Given the description of an element on the screen output the (x, y) to click on. 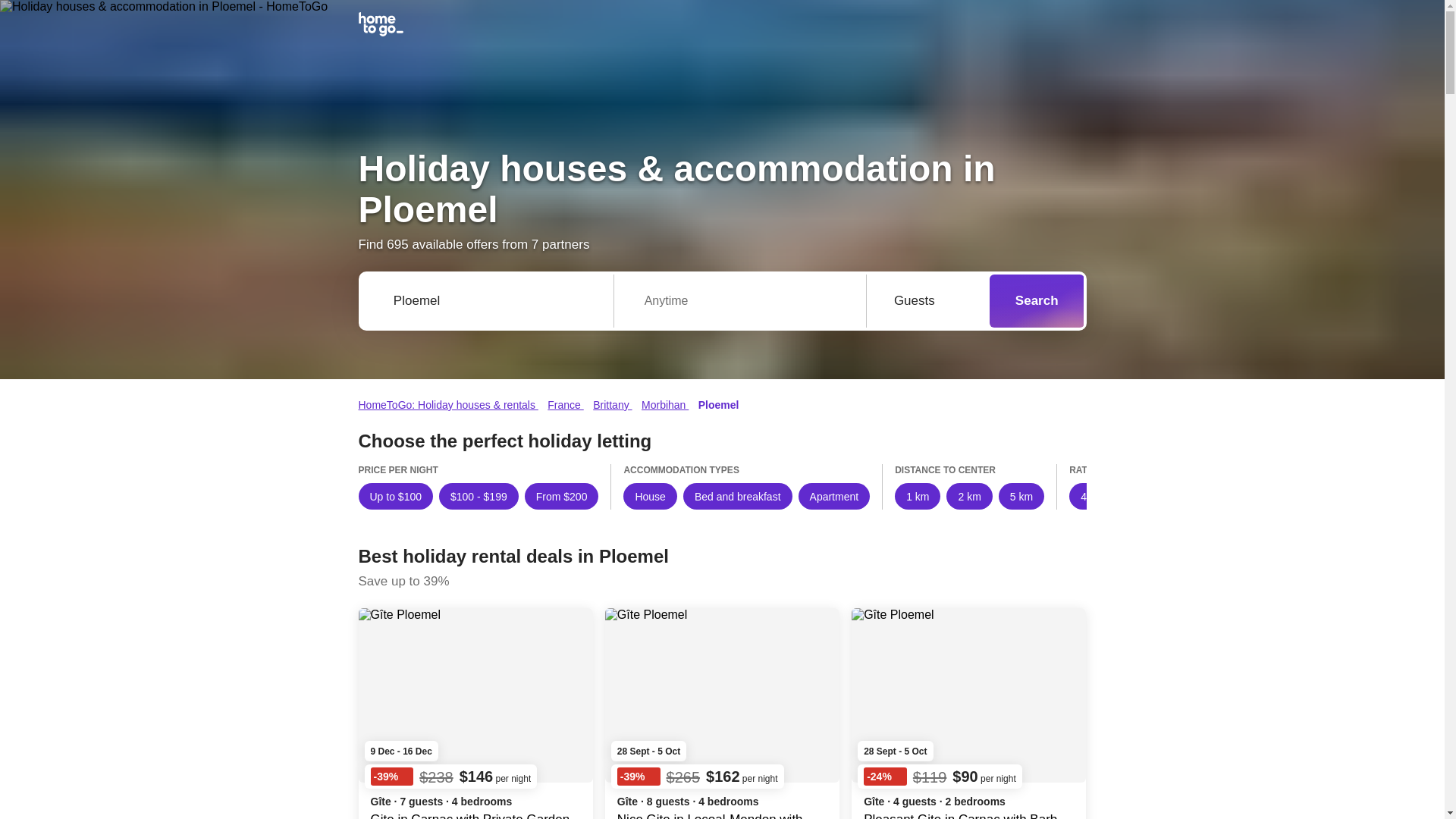
Search Element type: text (1036, 300)
France Element type: text (565, 404)
Morbihan Element type: text (664, 404)
Brittany Element type: text (612, 404)
HomeToGo: Holiday houses & rentals Element type: text (447, 404)
